Given the description of an element on the screen output the (x, y) to click on. 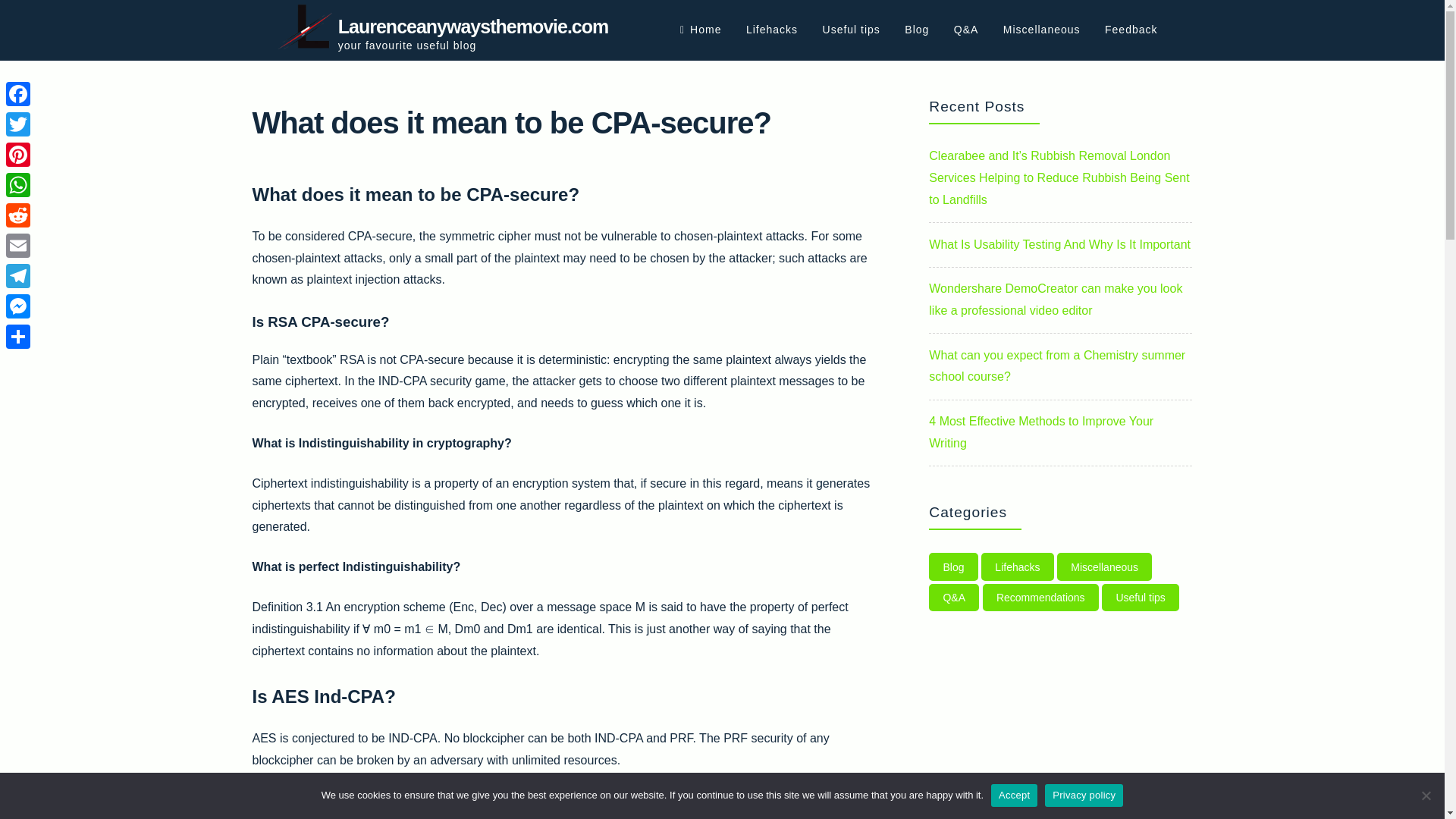
Blog (952, 565)
What can you expect from a Chemistry summer school course? (1056, 366)
Pinterest (17, 154)
Facebook (17, 93)
Feedback (1131, 30)
Useful tips (1140, 596)
Pinterest (17, 154)
Twitter (17, 123)
What Is Usability Testing And Why Is It Important (1059, 244)
Miscellaneous (1104, 565)
WhatsApp (17, 184)
Email (17, 245)
Facebook (17, 93)
Telegram (17, 276)
